Given the description of an element on the screen output the (x, y) to click on. 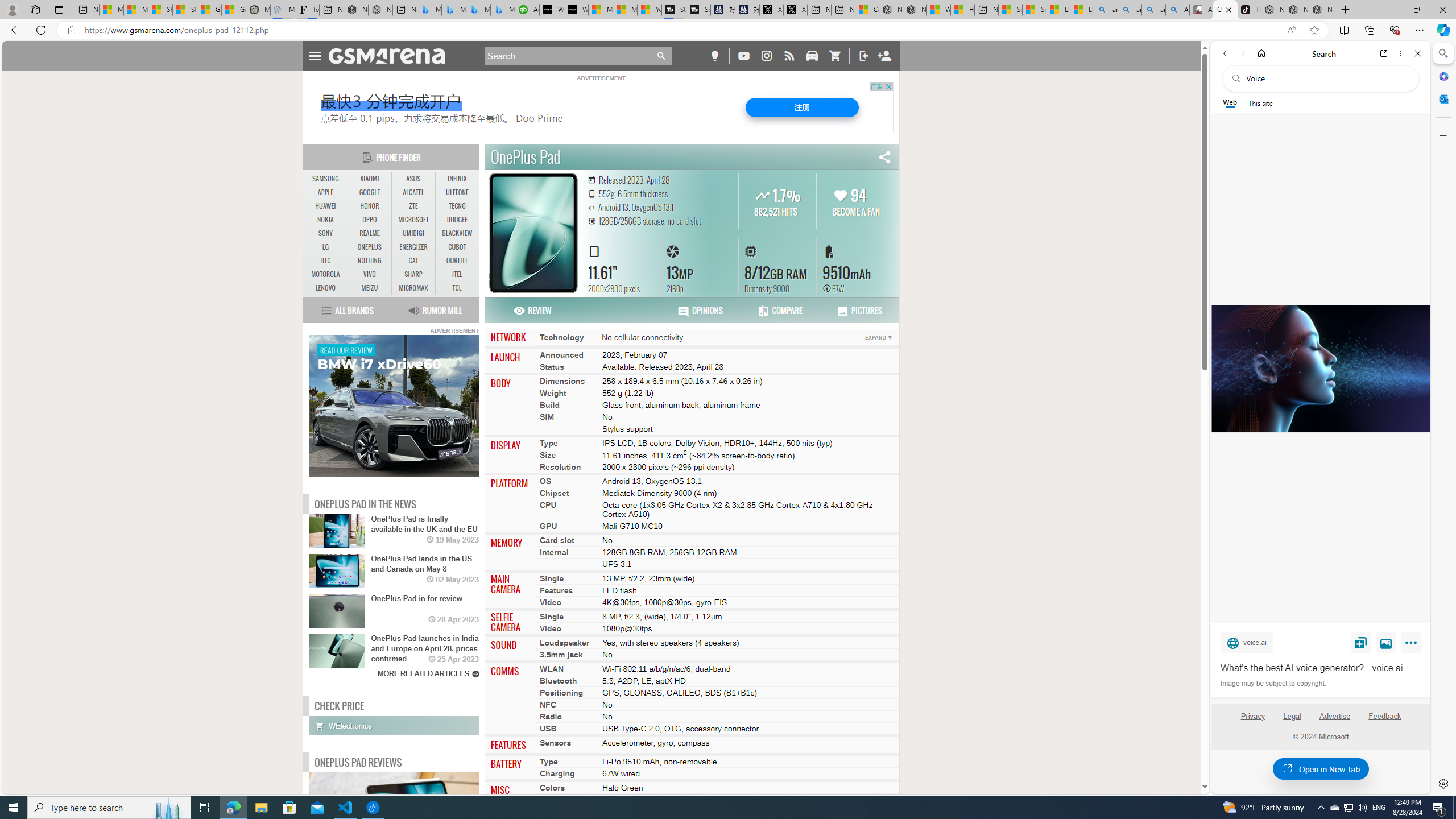
Side bar (1443, 418)
Microsoft Start Sports (600, 9)
CUBOT (457, 246)
ZTE (413, 205)
To get missing image descriptions, open the context menu. (393, 406)
MICROMAX (413, 287)
Search the web (1326, 78)
Resolution (560, 466)
Feedback (1384, 715)
TikTok (1248, 9)
Outlook (1442, 98)
ASUS (413, 178)
